Given the description of an element on the screen output the (x, y) to click on. 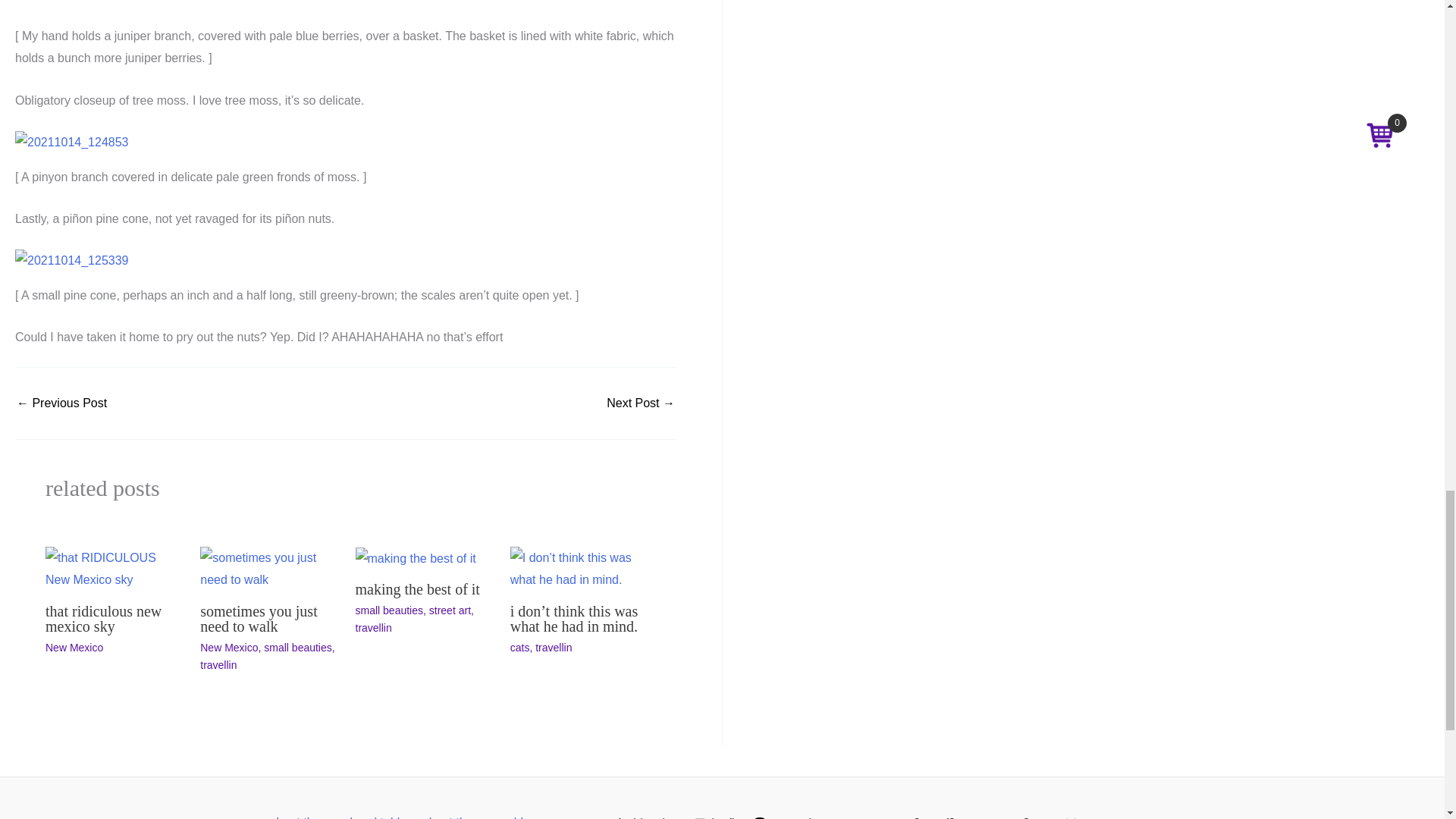
cats: back yard wander edition (641, 403)
cats: meanwhile, back at the ranch edition (61, 403)
